Given the description of an element on the screen output the (x, y) to click on. 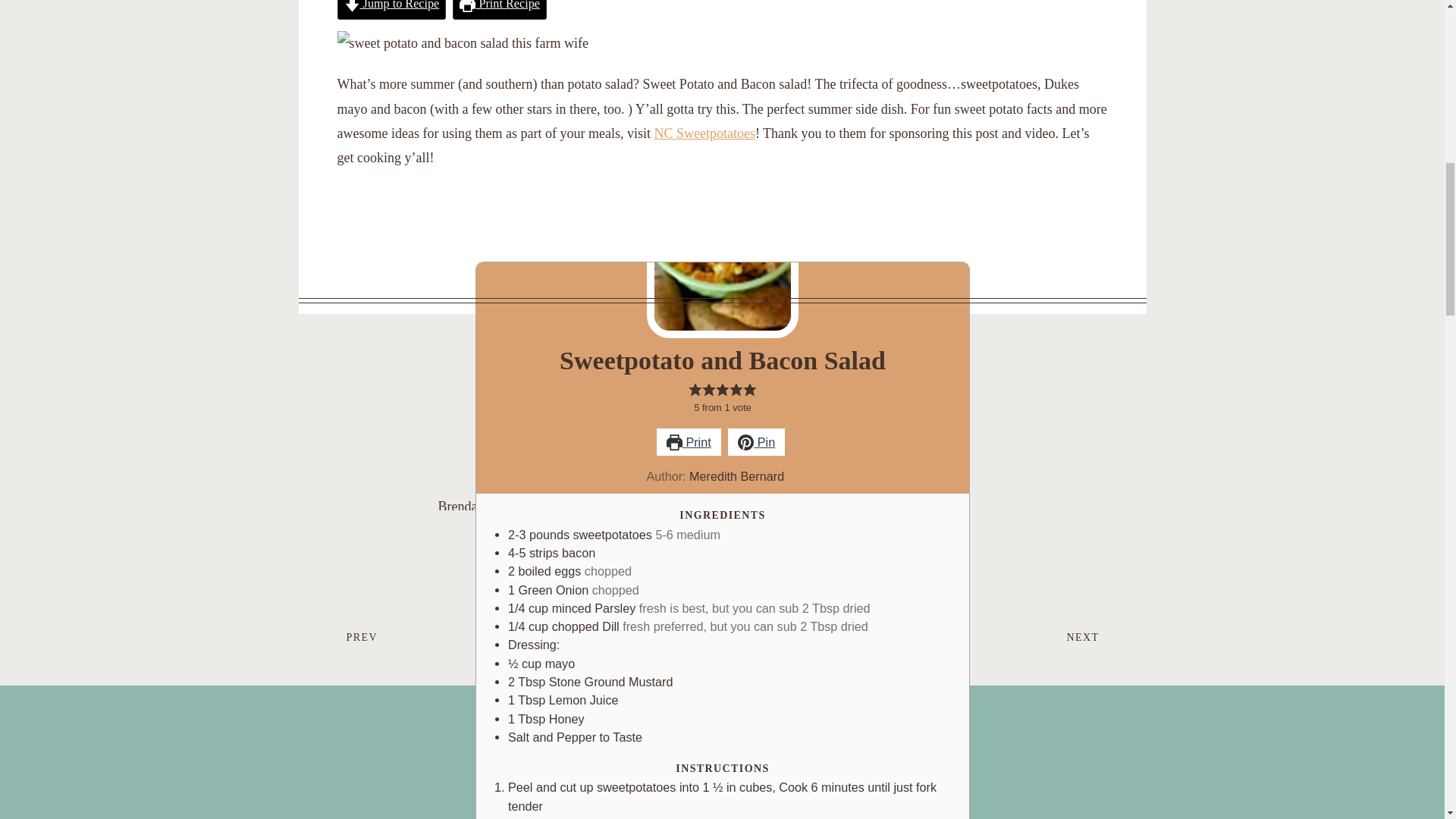
July 5, 2021 at 4:34 pm (502, 772)
NC Sweetpotatoes (703, 133)
July 8, 2020 at 12:07 am (721, 470)
Pin (505, 639)
June 30, 2020 at 3:57 pm (756, 441)
Jump to Recipe (507, 530)
Print Recipe (390, 9)
Print (499, 9)
